Given the description of an element on the screen output the (x, y) to click on. 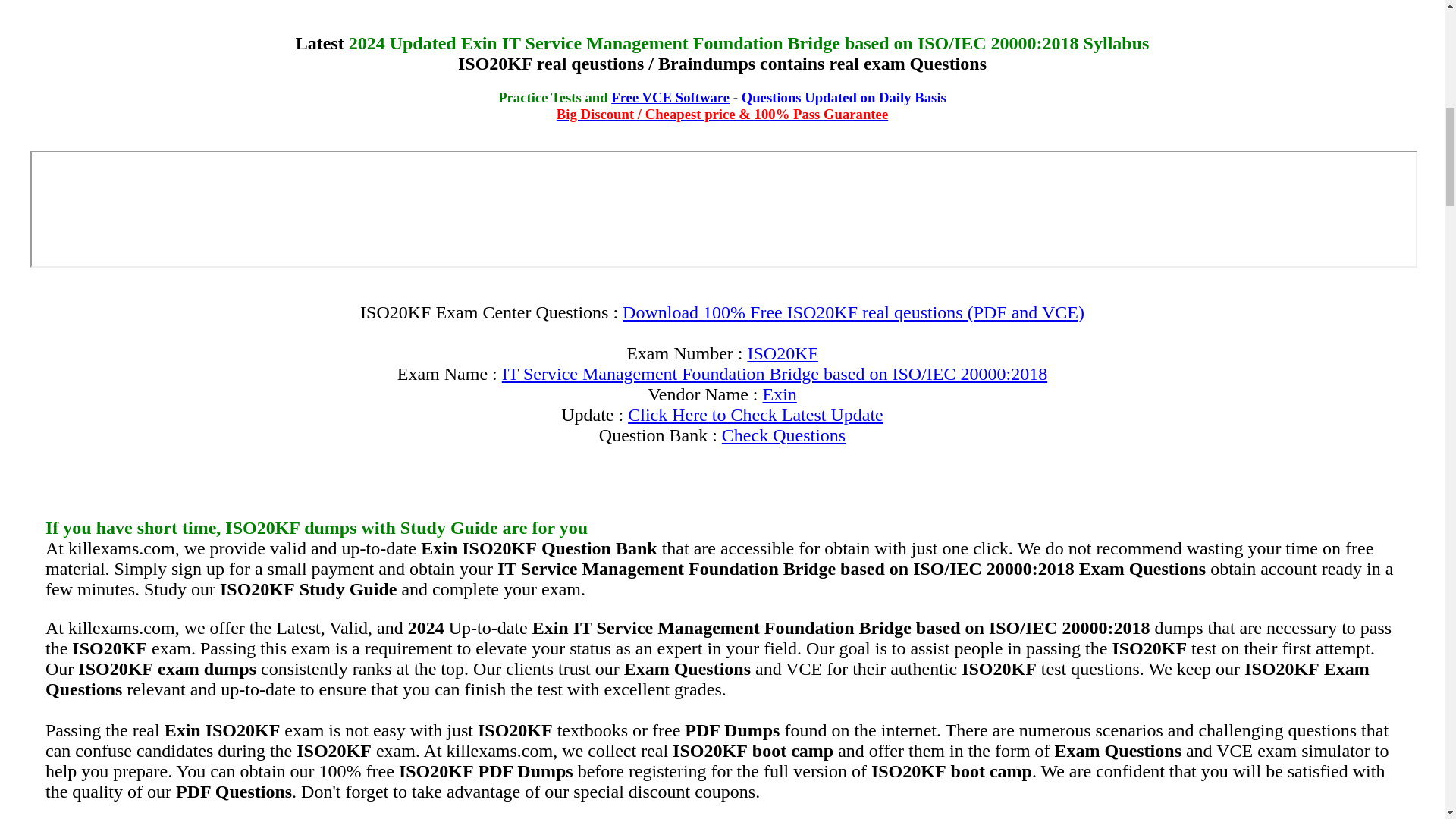
Check Questions (783, 435)
killexams ISO20KF dumps (781, 353)
ISO20KF (781, 353)
Updated and valid Exin real exam questions (778, 394)
Free VCE Software (670, 97)
Click Here to Check Latest Update (755, 414)
Exin (778, 394)
